Given the description of an element on the screen output the (x, y) to click on. 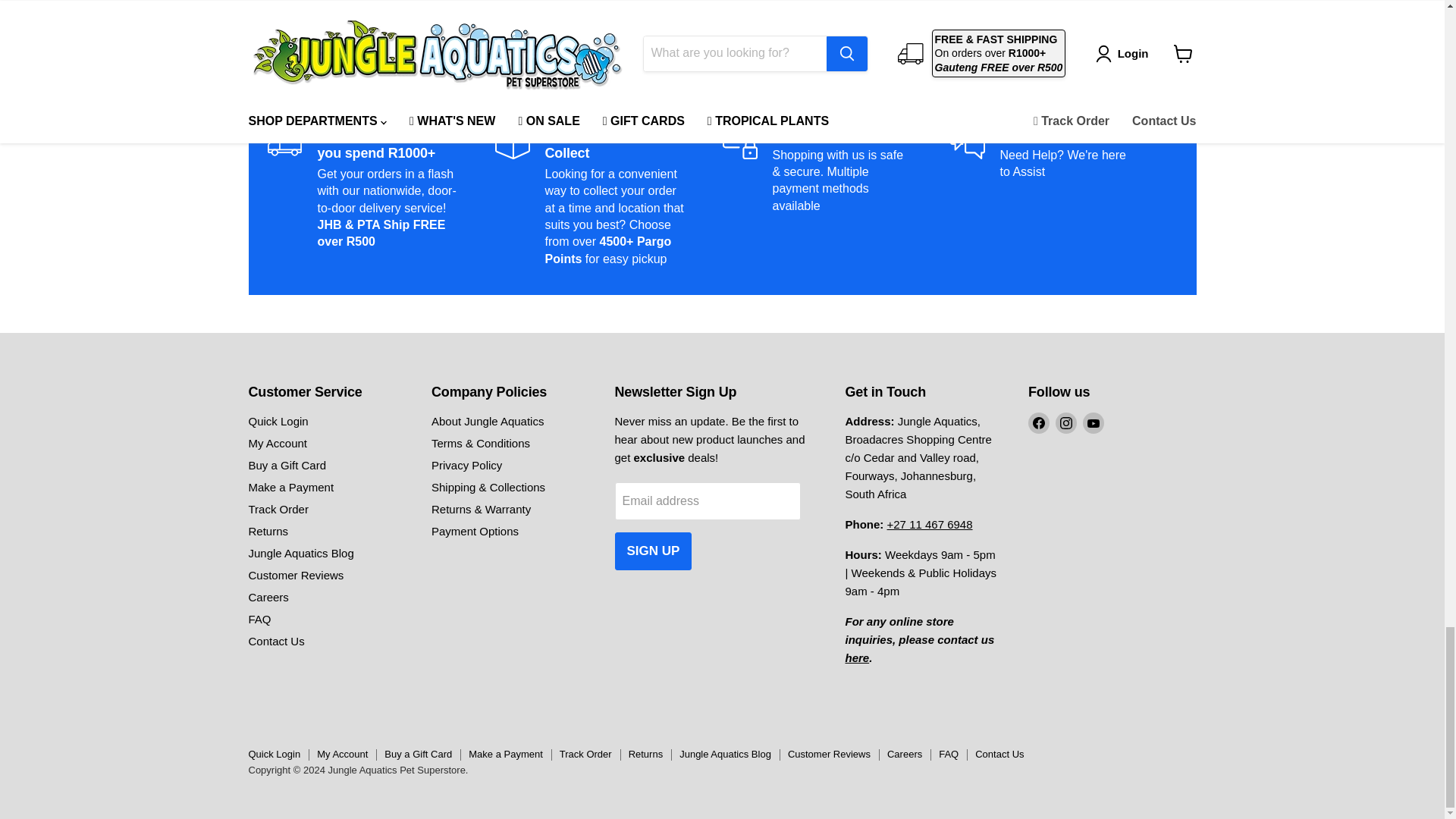
tel:0114676948 (929, 523)
Instagram (1066, 423)
YouTube (1093, 423)
Facebook (1038, 423)
